Given the description of an element on the screen output the (x, y) to click on. 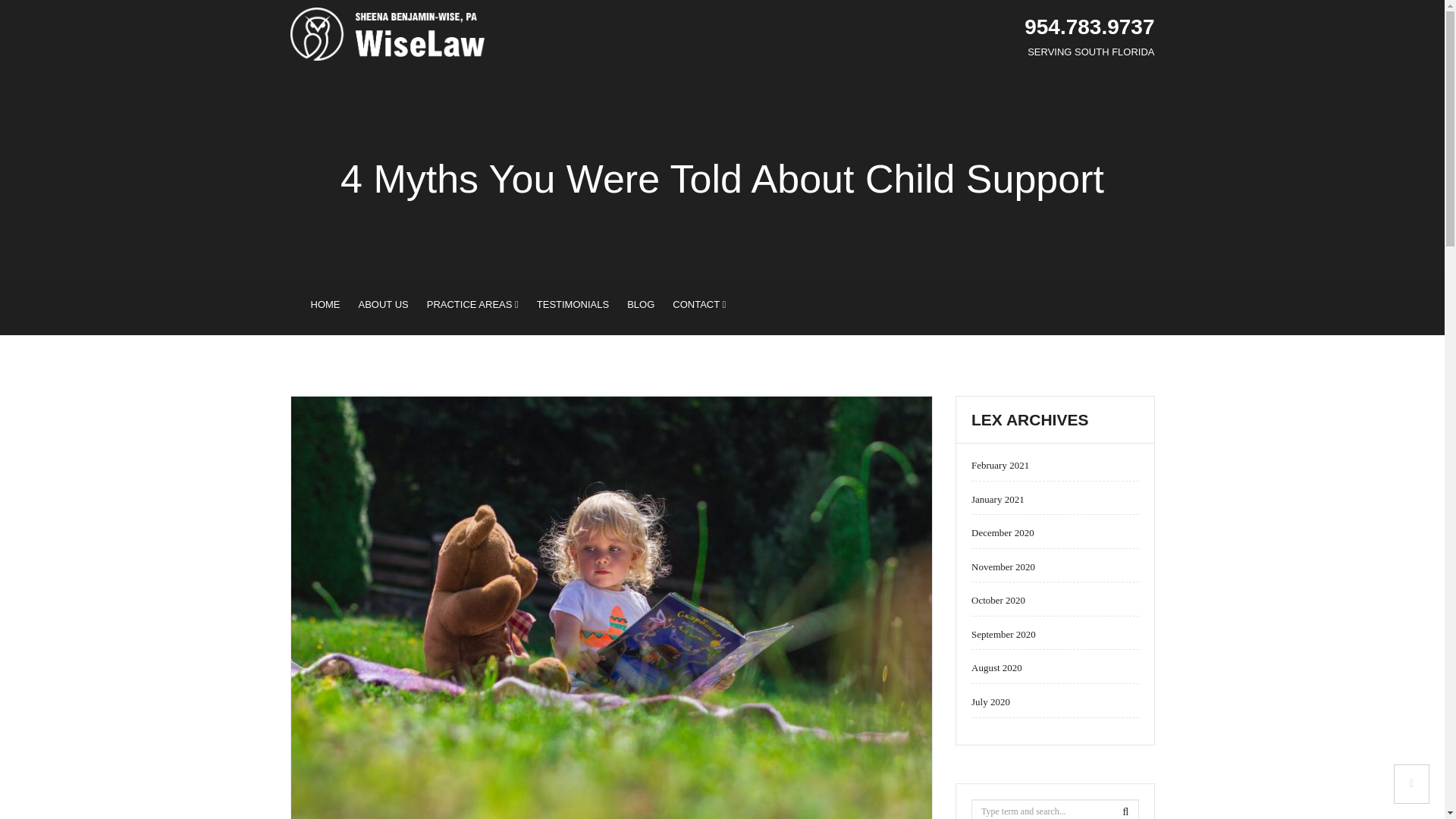
January 2021 (998, 499)
954.783.9737 (1089, 26)
TESTIMONIALS (572, 304)
CONTACT (699, 304)
August 2020 (996, 667)
PRACTICE AREAS (472, 304)
October 2020 (998, 600)
September 2020 (1003, 633)
CONTACT (699, 304)
ABOUT US (382, 304)
PRACTICE AREAS (472, 304)
December 2020 (1002, 532)
February 2021 (1000, 464)
July 2020 (990, 701)
ABOUT US (382, 304)
